Given the description of an element on the screen output the (x, y) to click on. 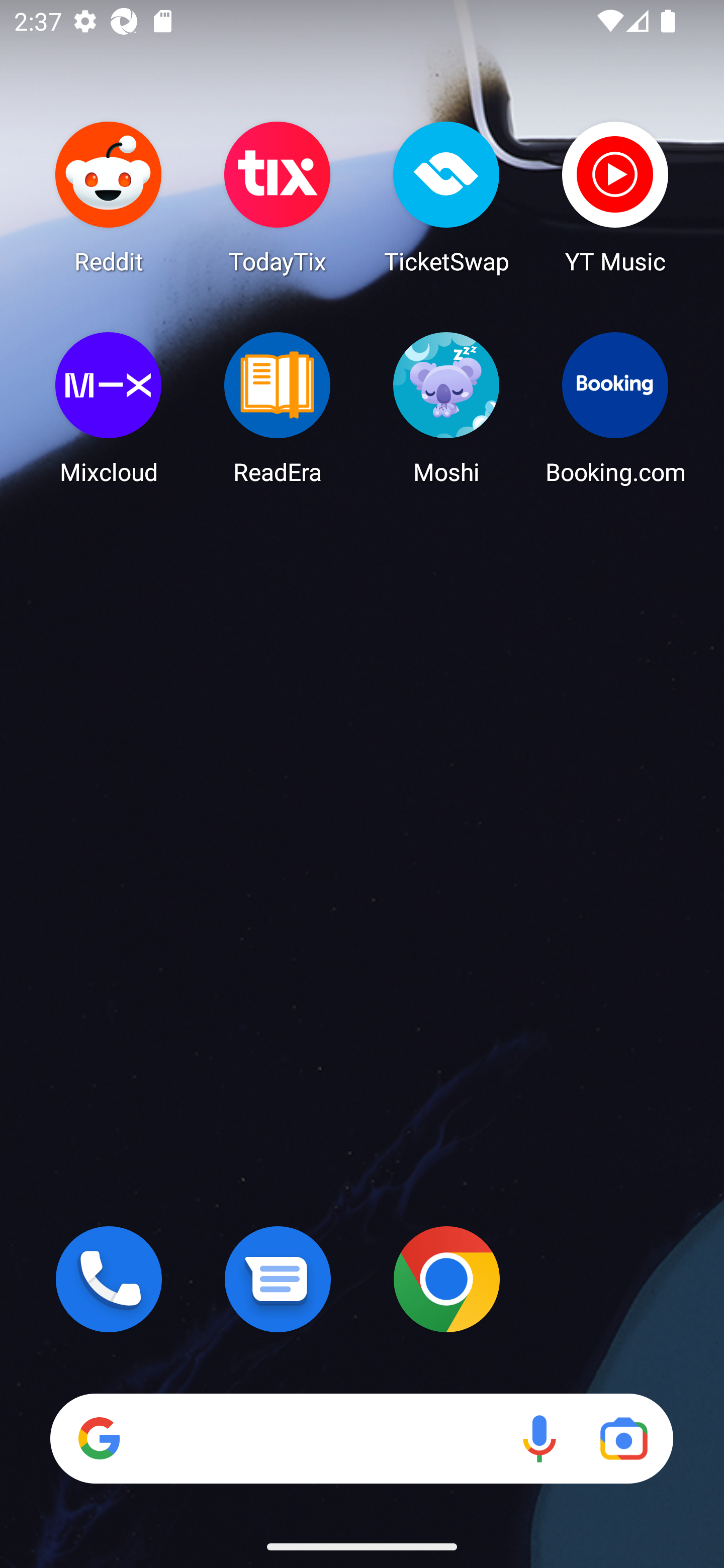
Reddit (108, 196)
TodayTix (277, 196)
TicketSwap (445, 196)
YT Music (615, 196)
Mixcloud (108, 407)
ReadEra (277, 407)
Moshi (445, 407)
Booking.com (615, 407)
Phone (108, 1279)
Messages (277, 1279)
Chrome (446, 1279)
Search Voice search Google Lens (361, 1438)
Voice search (539, 1438)
Google Lens (623, 1438)
